Given the description of an element on the screen output the (x, y) to click on. 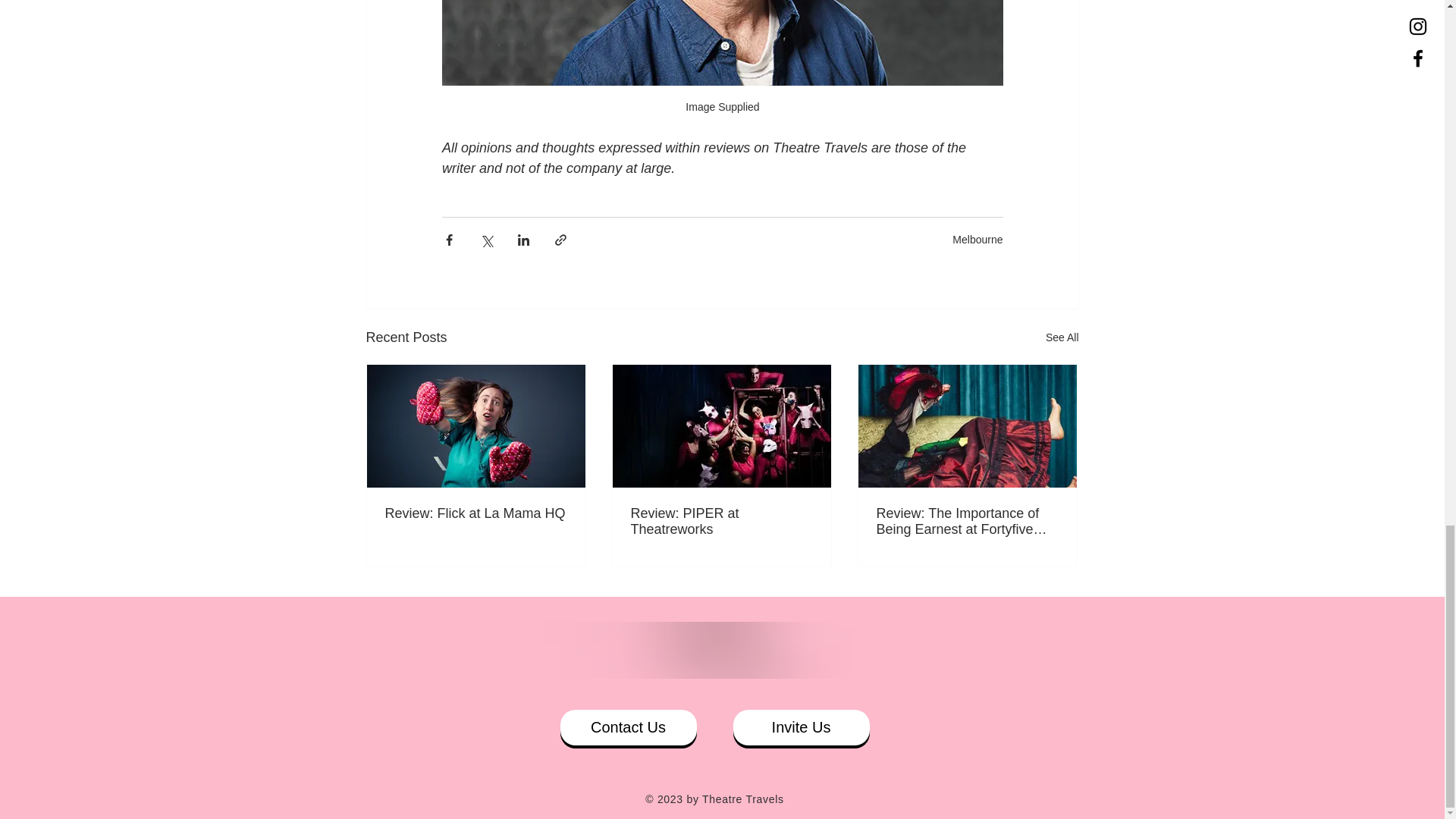
Review: PIPER at Theatreworks (721, 521)
Invite Us (800, 727)
See All (1061, 337)
Melbourne (977, 239)
Contact Us (627, 727)
Review: Flick at La Mama HQ (476, 513)
